Given the description of an element on the screen output the (x, y) to click on. 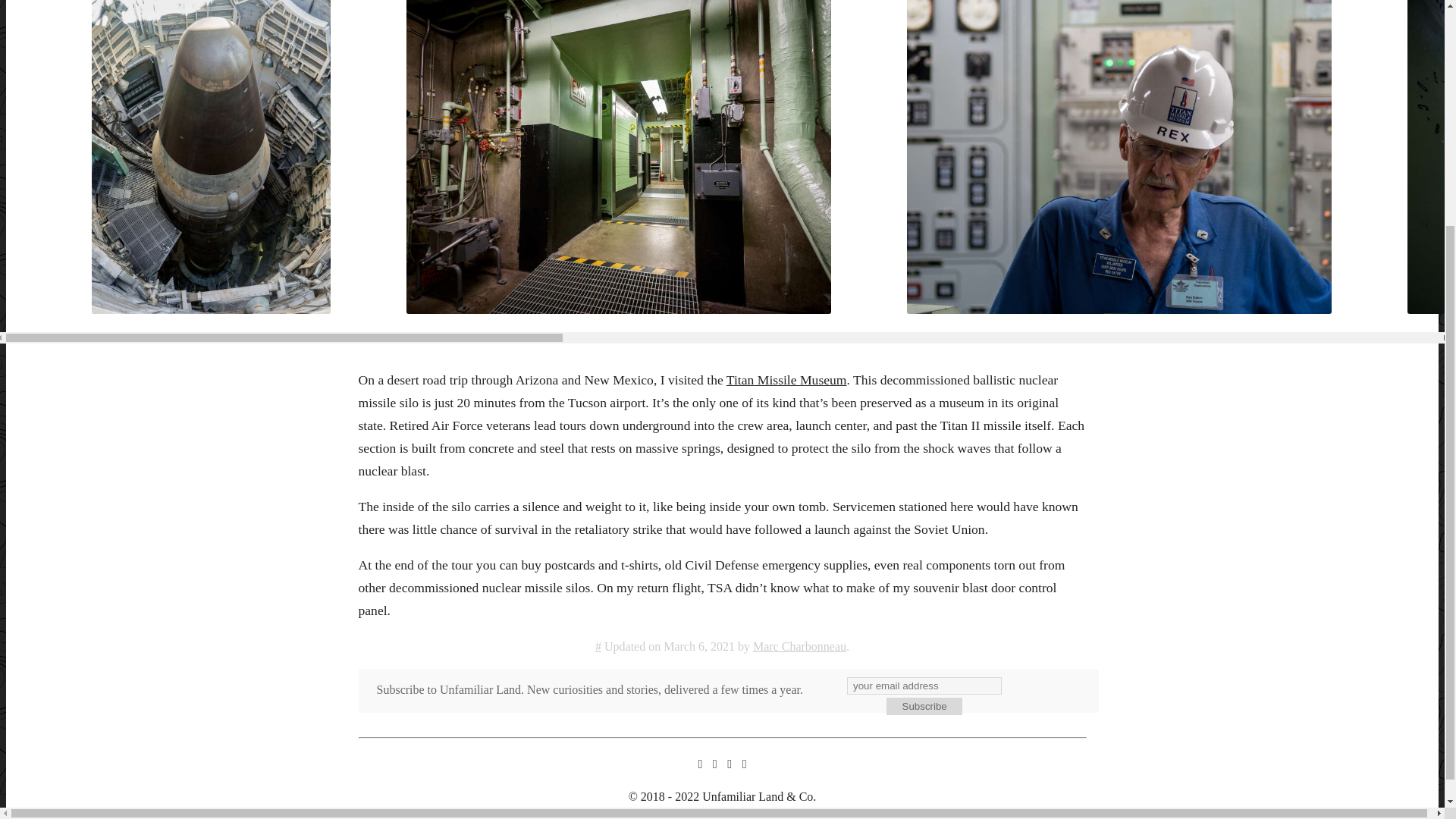
Subscribe (924, 706)
Subscribe (924, 706)
Titan Missile Museum (786, 379)
Marc Charbonneau (798, 645)
